Given the description of an element on the screen output the (x, y) to click on. 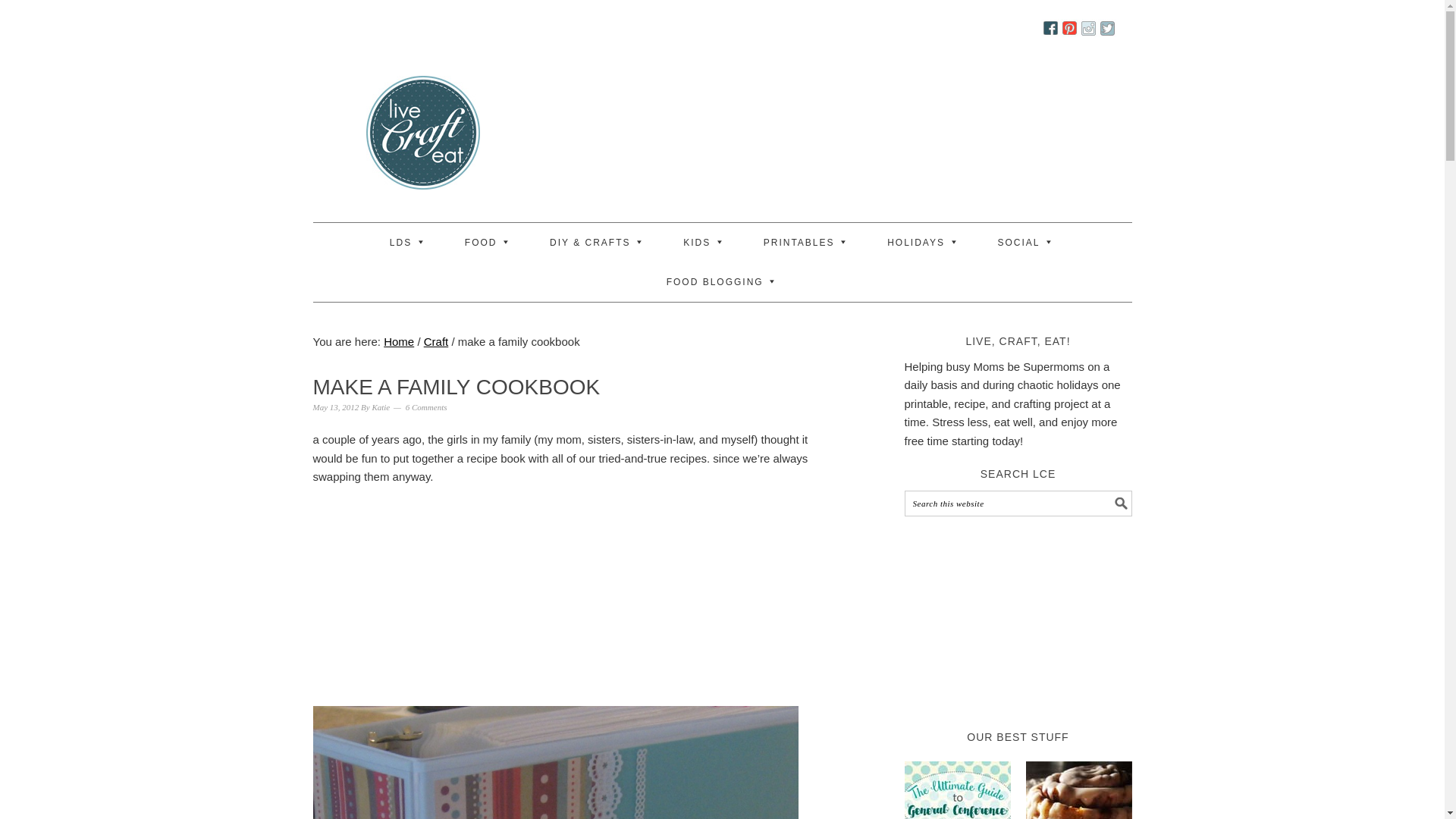
homemade cinnamon rolls (1078, 787)
LDS (408, 242)
FOOD (488, 242)
family cookbook (555, 762)
LIVE CRAFT EAT (370, 137)
KIDS (703, 242)
general conference kids guide (957, 787)
